Given the description of an element on the screen output the (x, y) to click on. 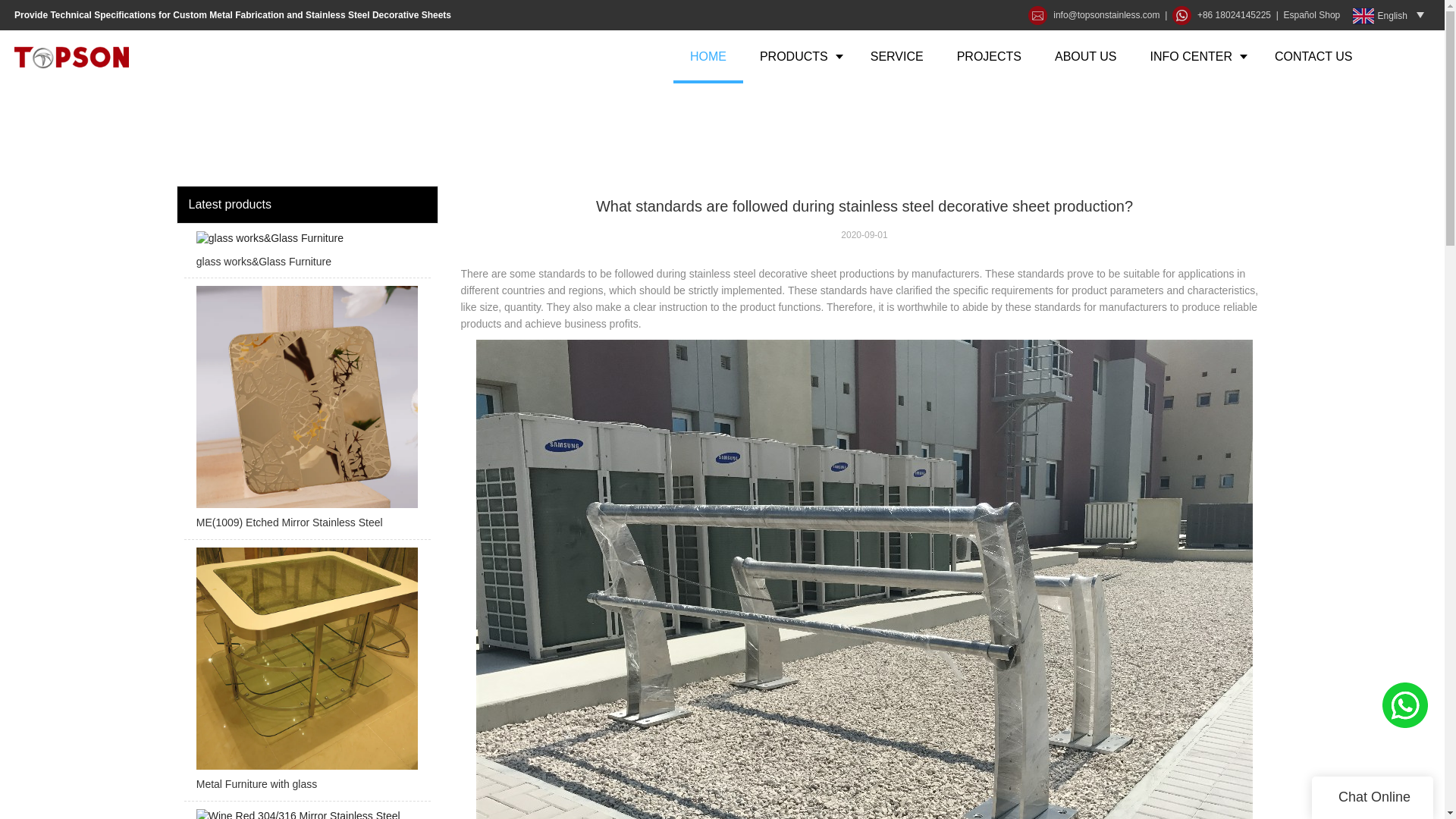
CONTACT US (1313, 56)
ABOUT US (1086, 56)
PRODUCTS (797, 56)
SERVICE (896, 56)
Metal Furniture with glass (306, 673)
PROJECTS (989, 56)
HOME (707, 56)
INFO CENTER (1195, 56)
